Given the description of an element on the screen output the (x, y) to click on. 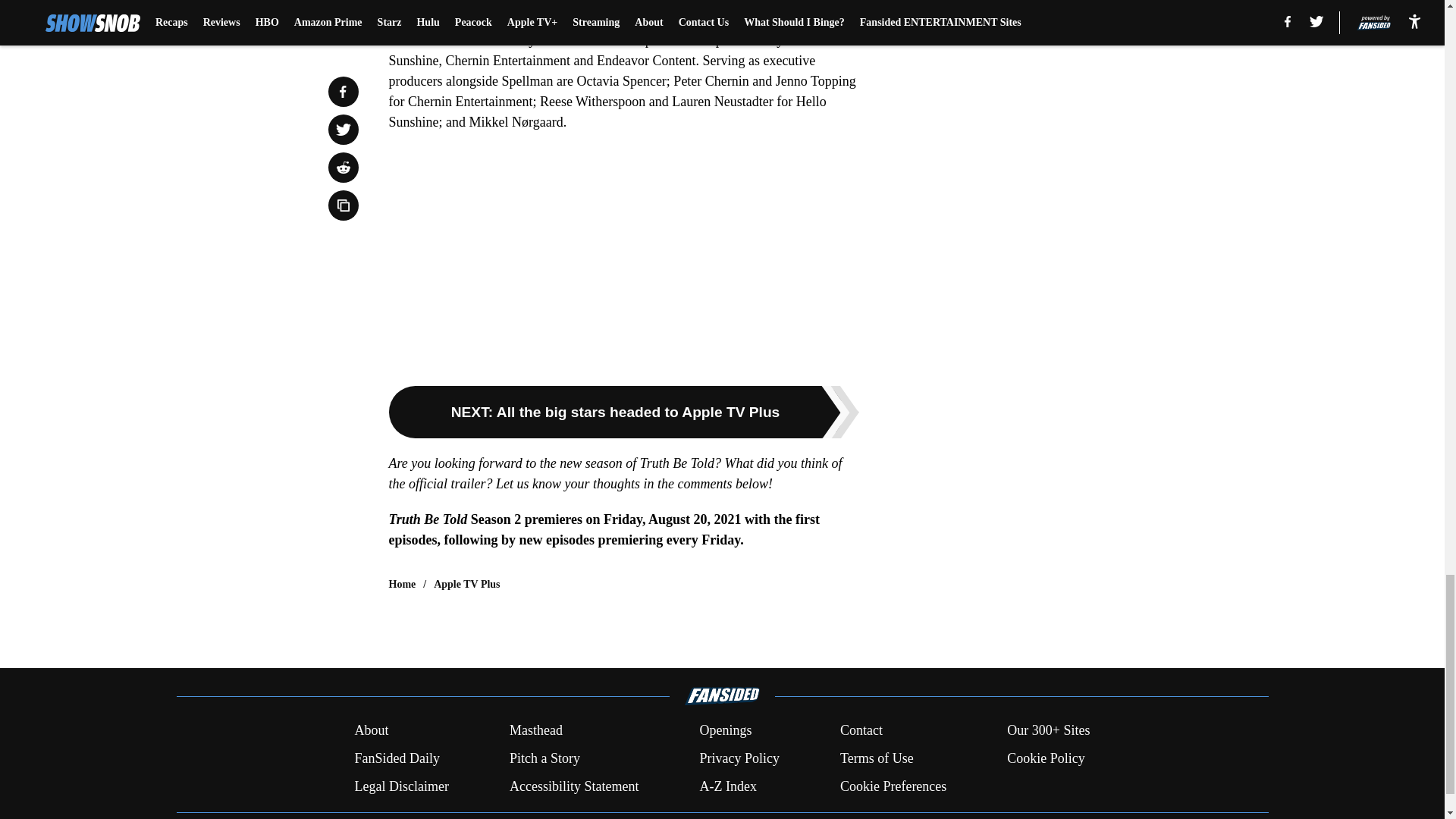
Contact (861, 730)
Pitch a Story (544, 758)
About (370, 730)
Home (401, 584)
Apple TV Plus (466, 584)
Masthead (535, 730)
Openings (724, 730)
FanSided Daily (396, 758)
NEXT: All the big stars headed to Apple TV Plus (623, 411)
